Given the description of an element on the screen output the (x, y) to click on. 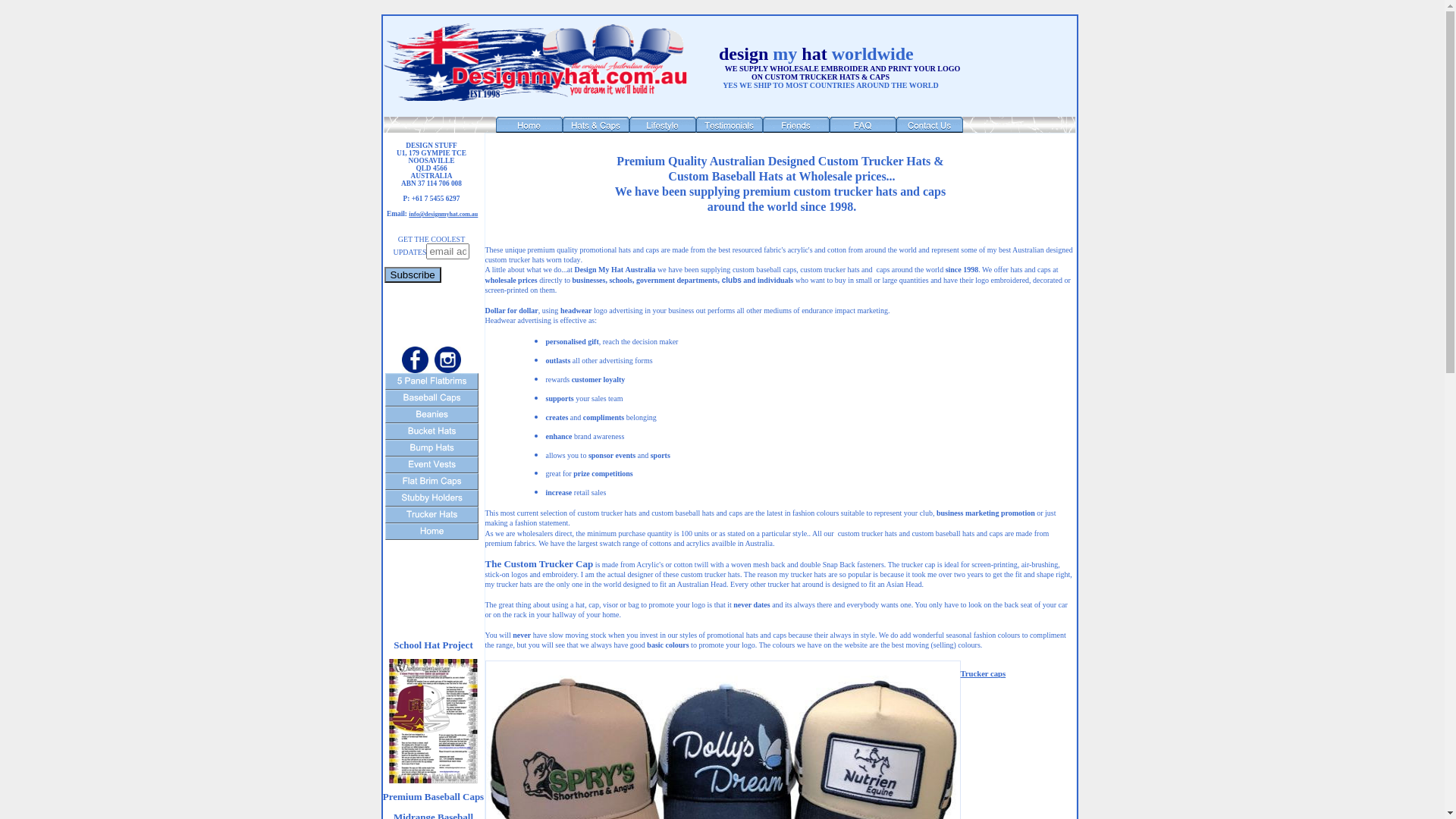
Trucker caps Element type: text (982, 673)
Subscribe Element type: text (411, 274)
Premium Baseball Caps Element type: text (432, 796)
The Custom Trucker Cap Element type: text (539, 563)
School Hat Project Element type: text (432, 644)
info@designmyhat.com.au Element type: text (442, 213)
